Given the description of an element on the screen output the (x, y) to click on. 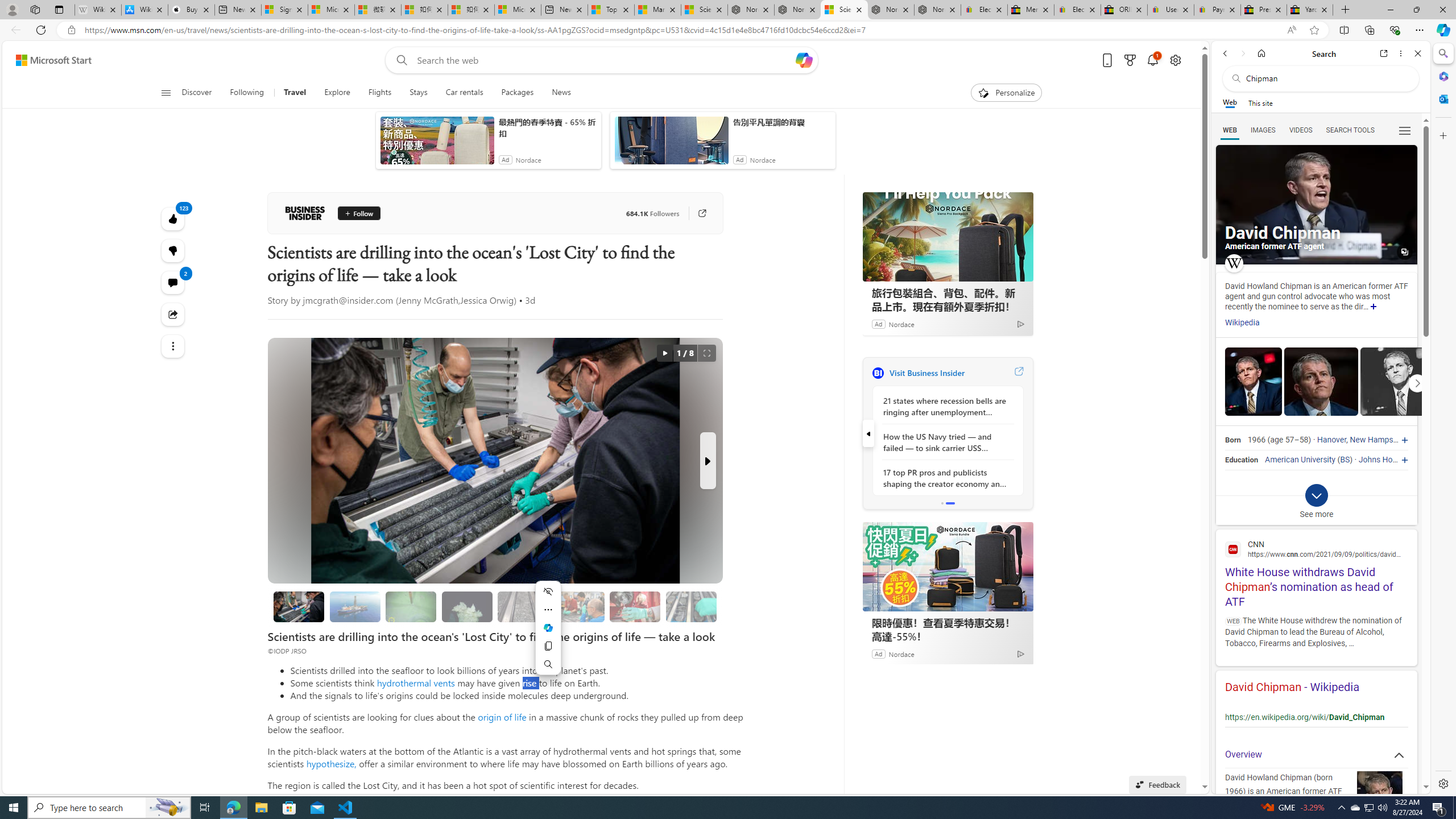
previous (867, 433)
Looking for evidence of oxygen-free life (579, 606)
Packages (517, 92)
Click to scroll right (1416, 382)
Packages (517, 92)
SEARCH TOOLS (1350, 130)
View comments 2 Comment (172, 282)
Nordace (901, 653)
